Given the description of an element on the screen output the (x, y) to click on. 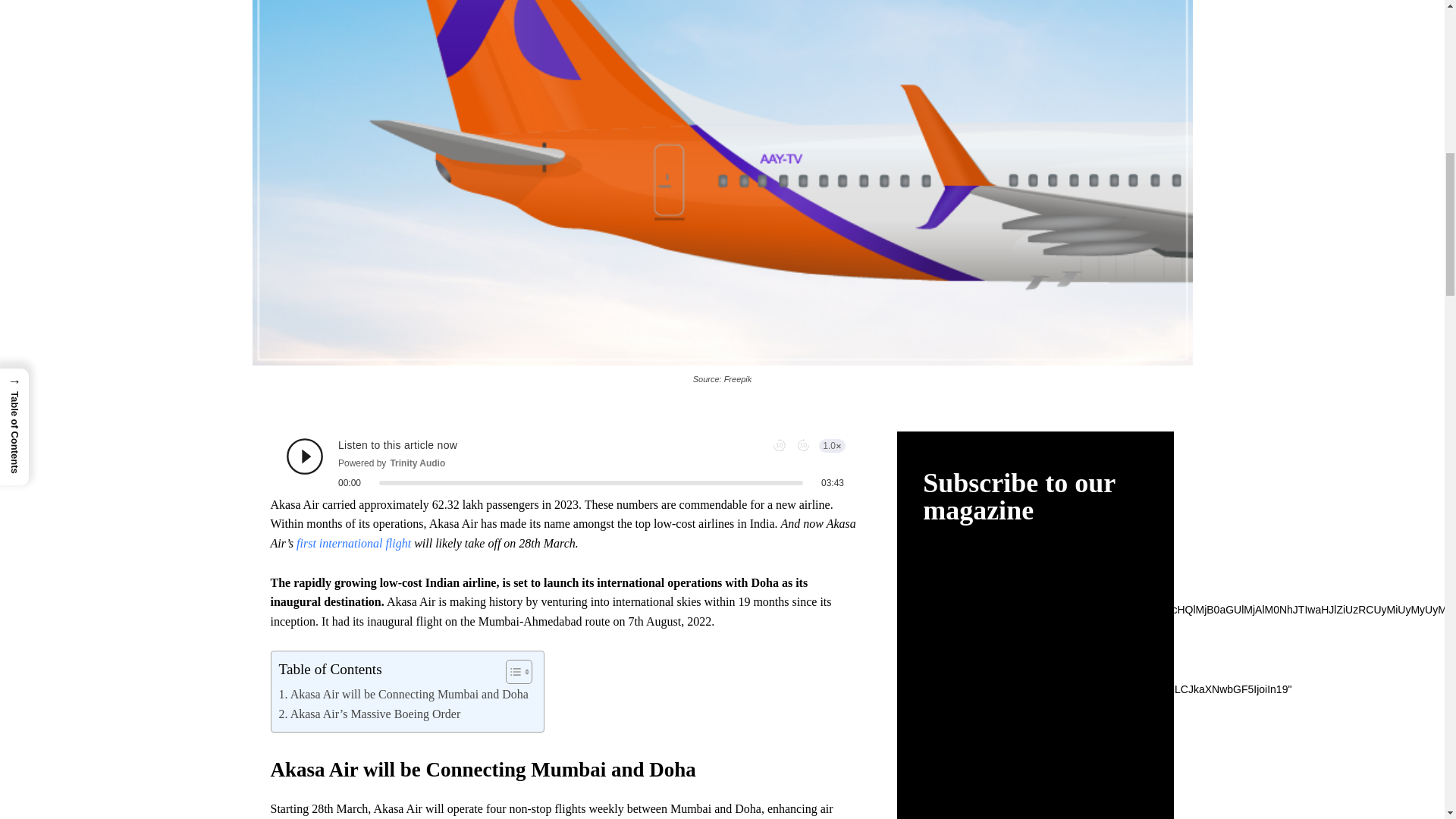
Trinity Audio Player (565, 463)
Akasa Air will be Connecting Mumbai and Doha (403, 694)
first international flight (353, 543)
